Given the description of an element on the screen output the (x, y) to click on. 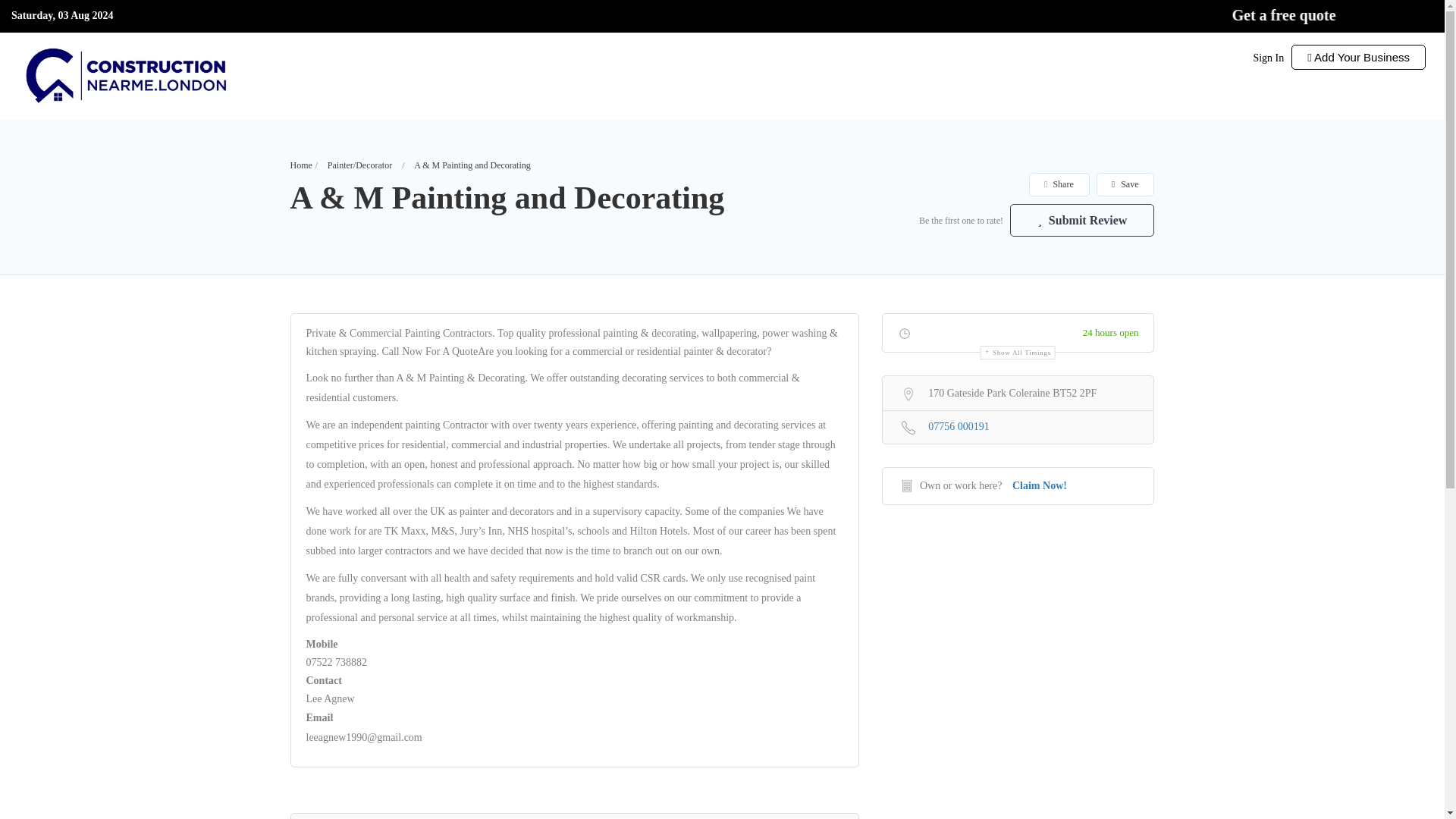
Add Your Business (1358, 57)
Sign In (1268, 57)
Save (1125, 184)
Submit (413, 502)
Home (300, 164)
